Given the description of an element on the screen output the (x, y) to click on. 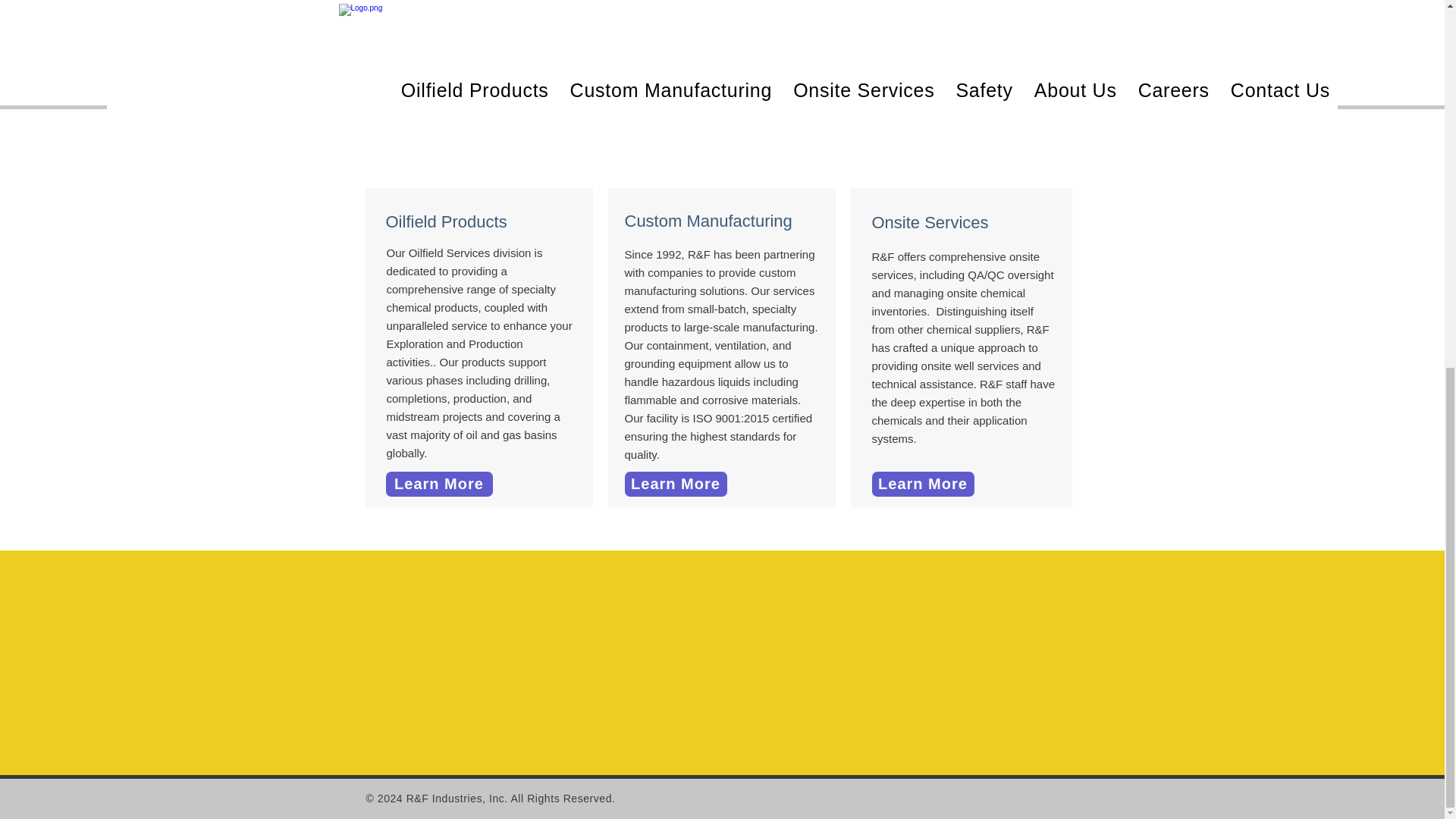
Learn More (675, 483)
Learn More (438, 483)
Learn More (923, 483)
